Given the description of an element on the screen output the (x, y) to click on. 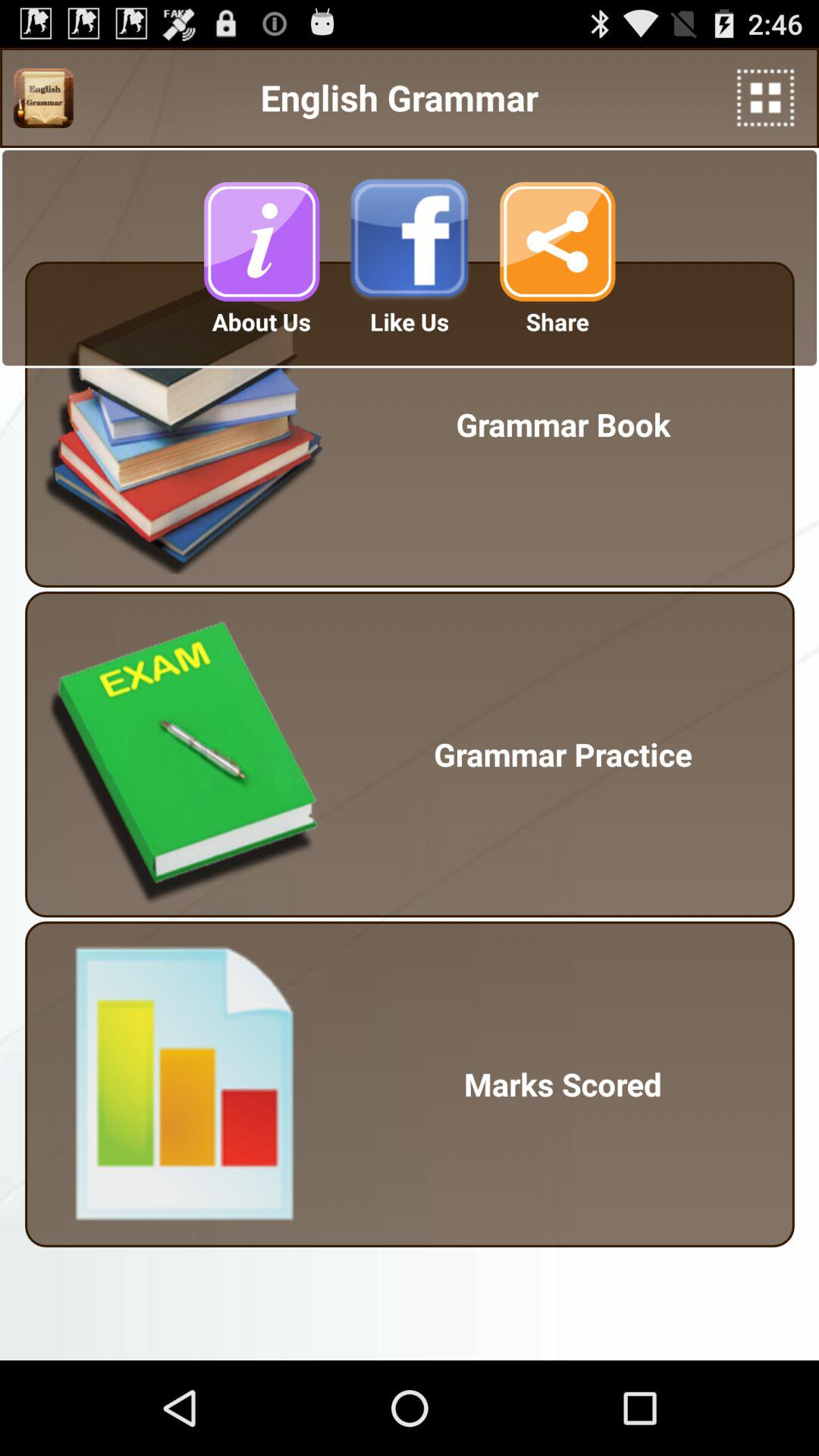
like on facebook (409, 241)
